Given the description of an element on the screen output the (x, y) to click on. 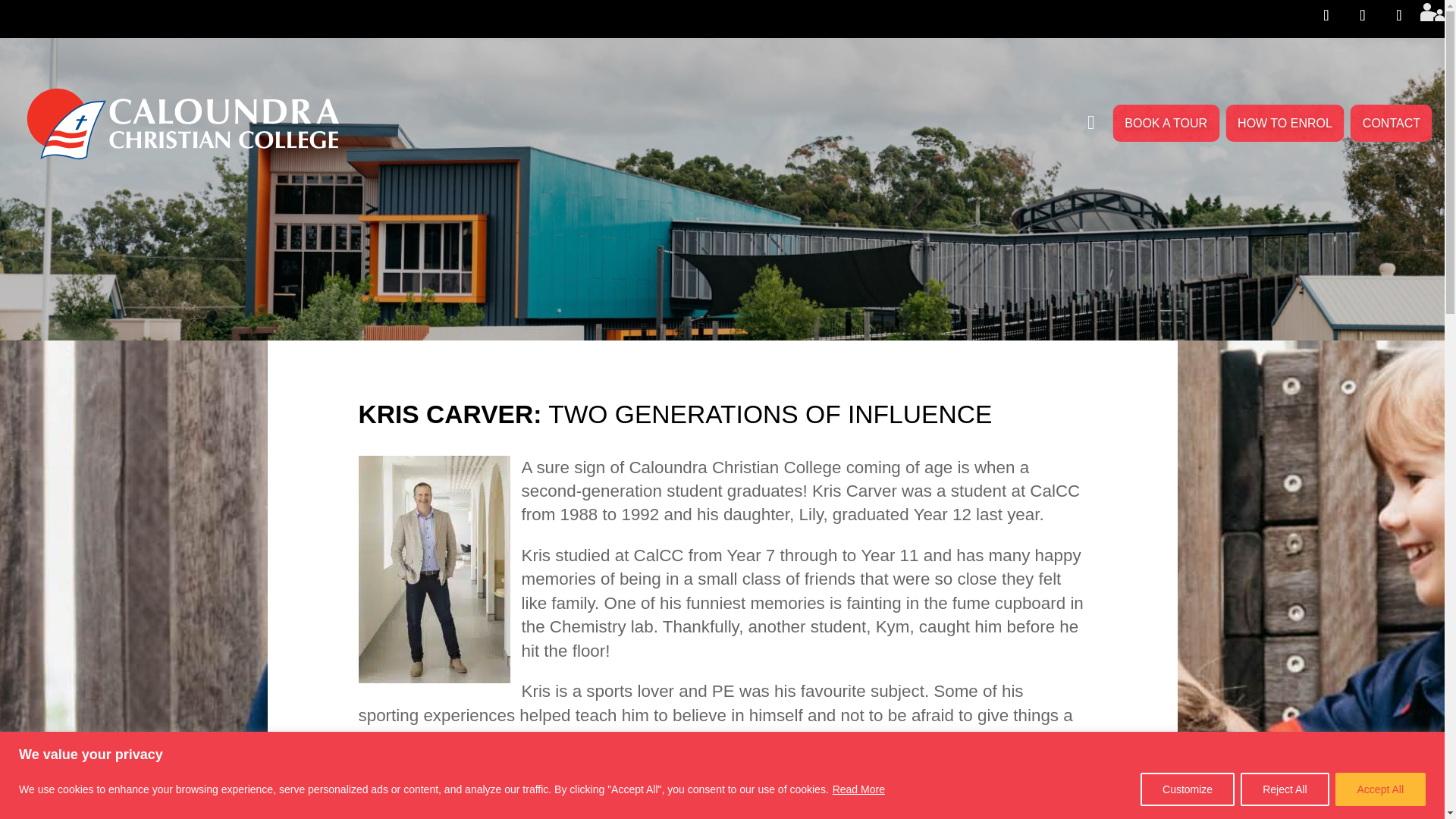
Kris Carver (1093, 124)
Accept All (1380, 788)
Read More (858, 789)
Follow on LinkedIn (1398, 15)
HOW TO ENROL (1284, 122)
Follow on Facebook (1325, 15)
Reject All (1283, 788)
Follow on Instagram (1362, 15)
Customize (1187, 788)
CONTACT (1391, 122)
